Given the description of an element on the screen output the (x, y) to click on. 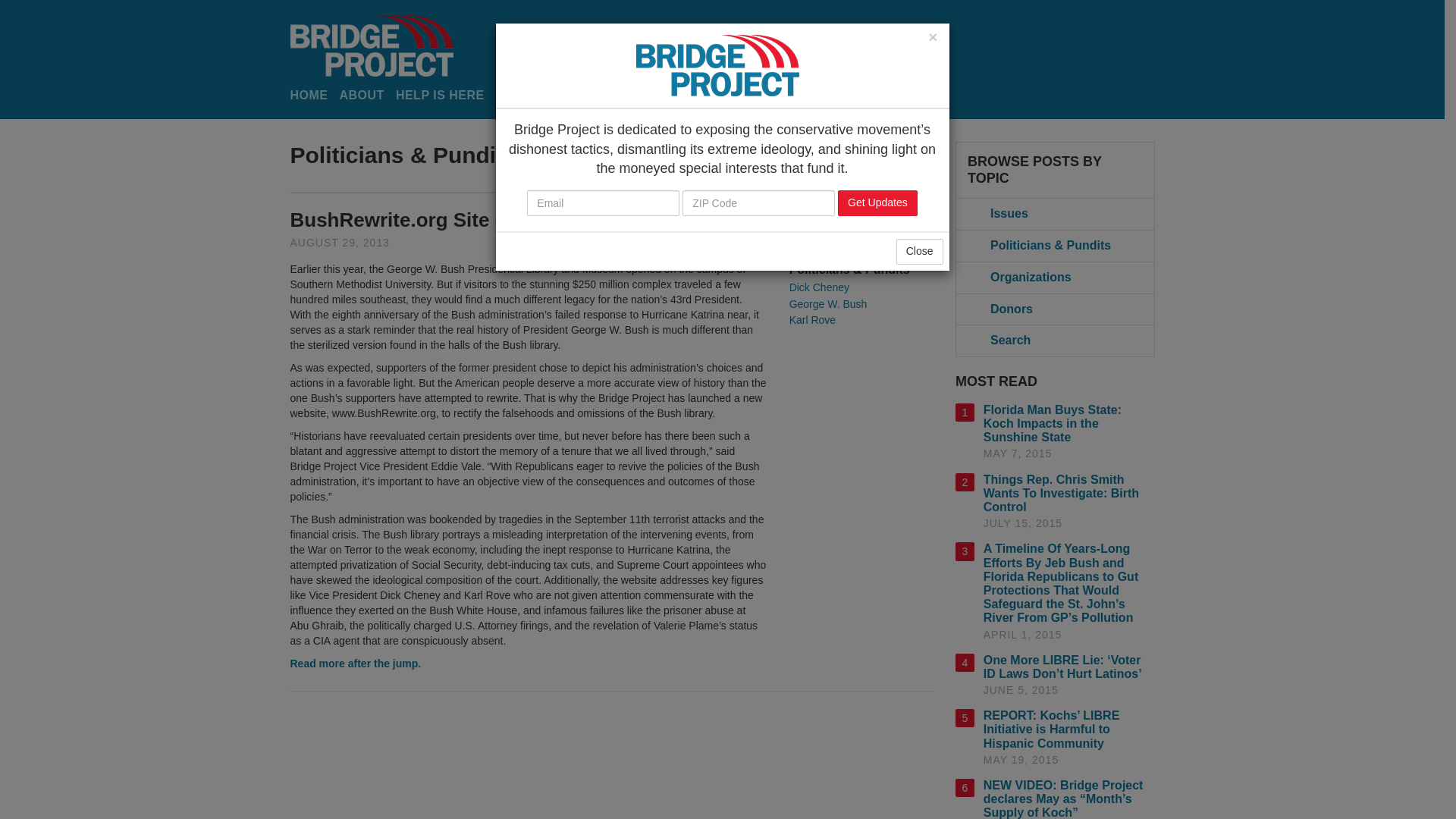
Get Updates (877, 203)
Read more after the jump. (354, 663)
Close (919, 251)
TRANSPARENCY DATABASE (717, 95)
George W. Bush (828, 304)
HOME (308, 95)
Donors (1055, 309)
ABOUT (361, 95)
Search (1055, 340)
Florida Man Buys State: Koch Impacts in the Sunshine State (1052, 423)
RESEARCH (582, 95)
Issues (1055, 214)
Karl Rove (812, 319)
Dick Cheney (818, 287)
